Given the description of an element on the screen output the (x, y) to click on. 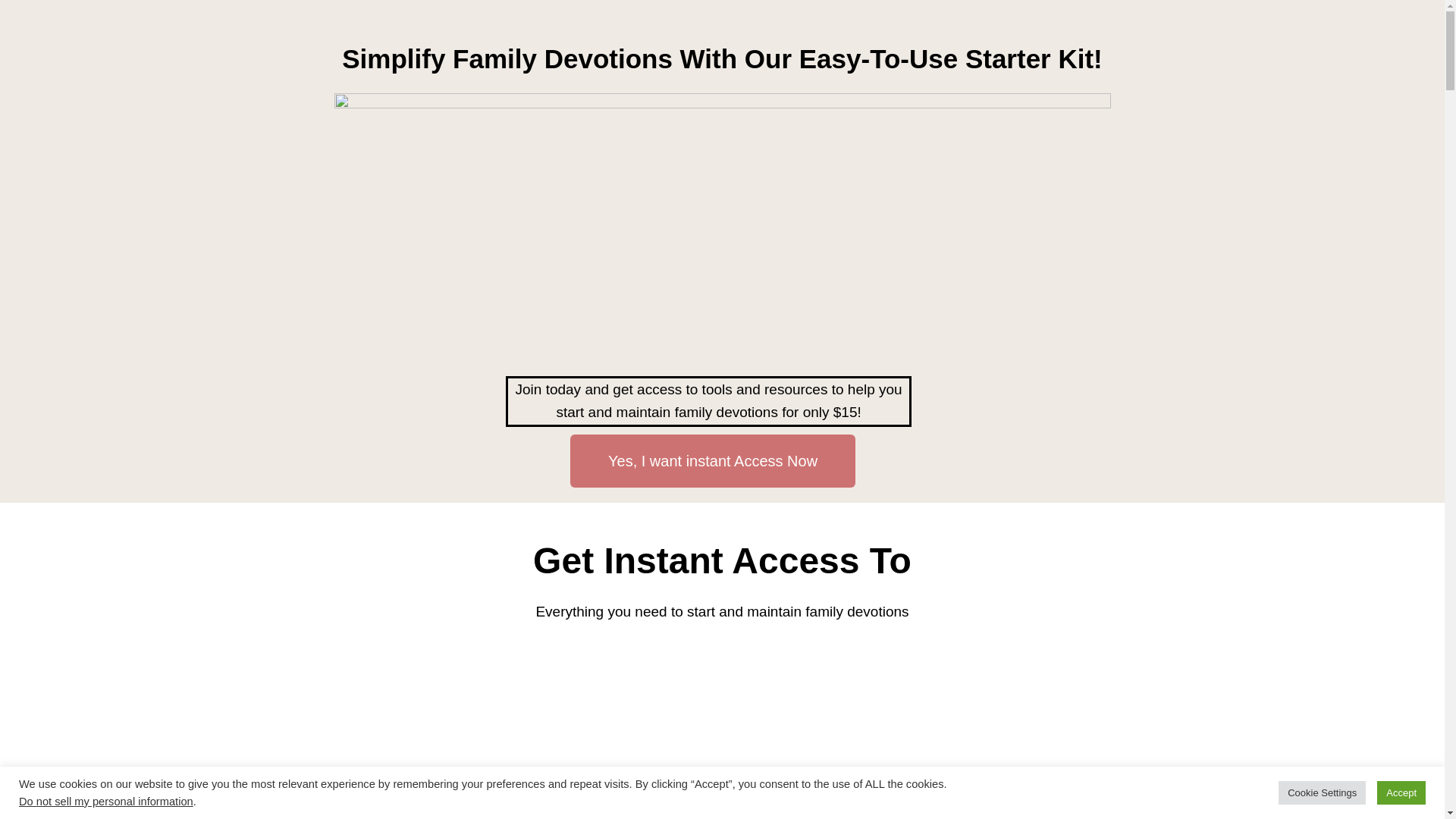
Cookie Settings (1321, 792)
Do not sell my personal information (105, 801)
Accept (1401, 792)
Yes, I want instant Access Now (713, 460)
